Given the description of an element on the screen output the (x, y) to click on. 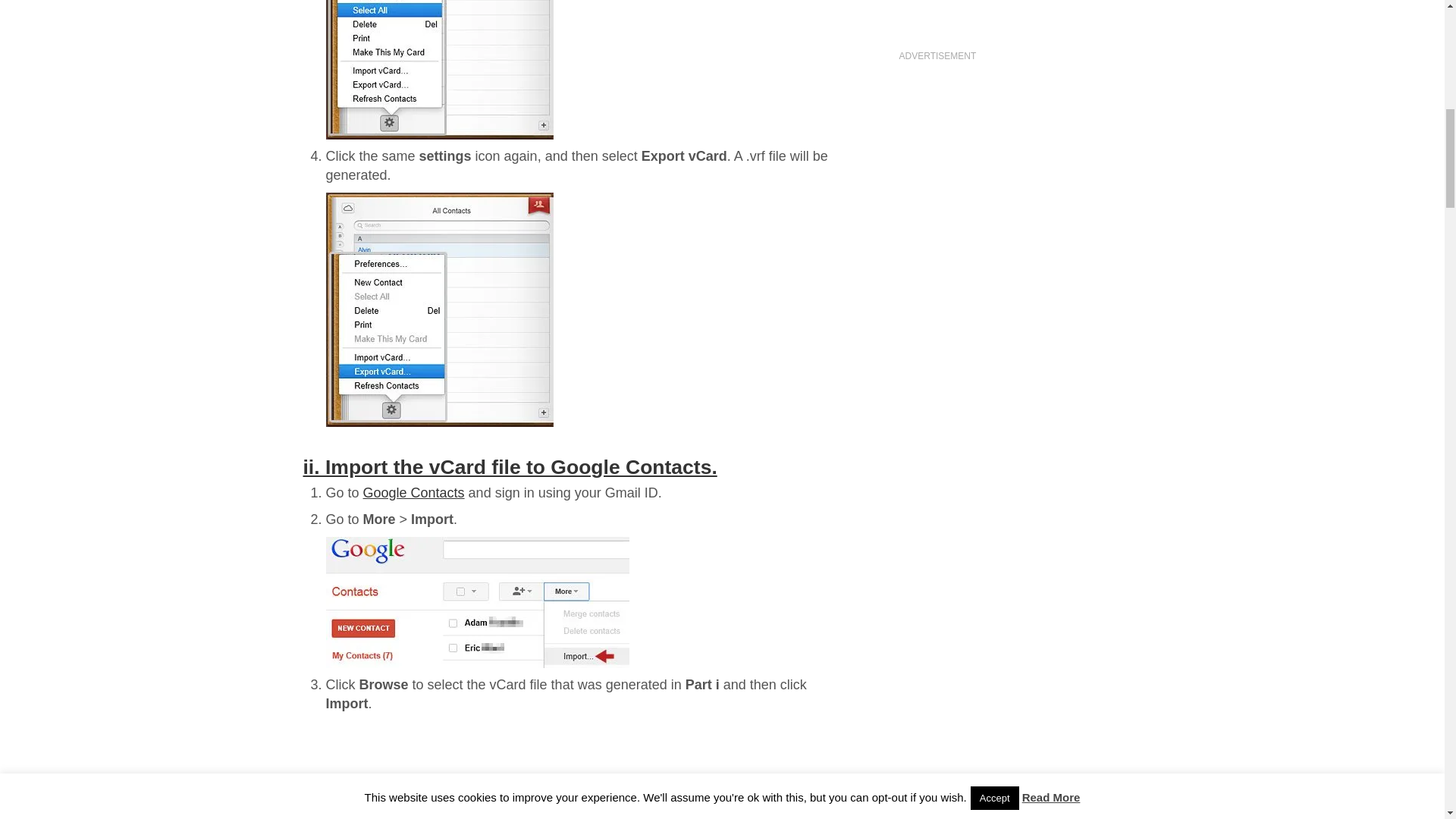
Google Contacts (413, 492)
YouTube video player (1019, 15)
